Given the description of an element on the screen output the (x, y) to click on. 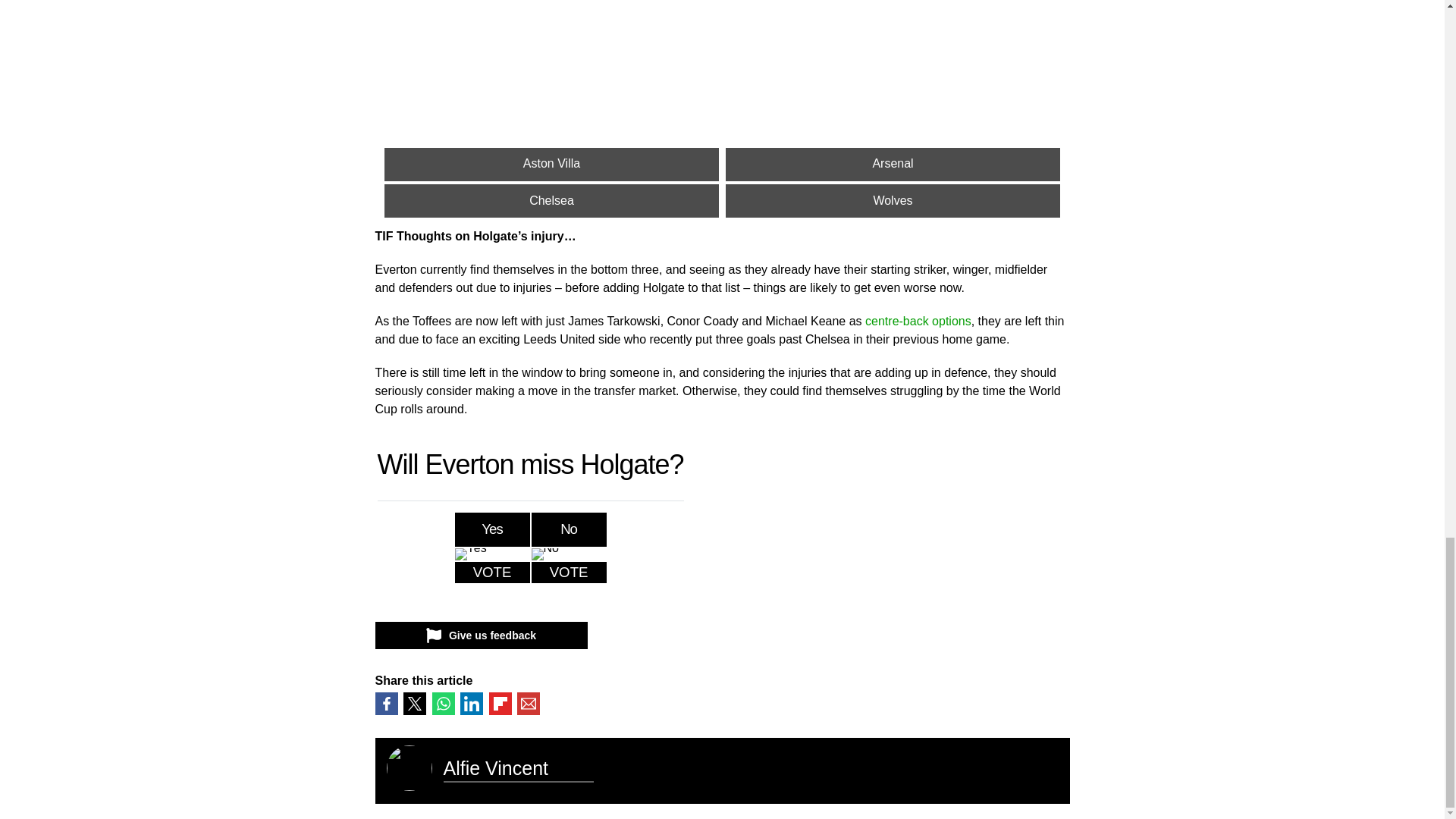
Aston Villa (551, 164)
Arsenal (892, 164)
Chelsea (551, 200)
Wolves (892, 200)
Aston Villa (551, 164)
